Given the description of an element on the screen output the (x, y) to click on. 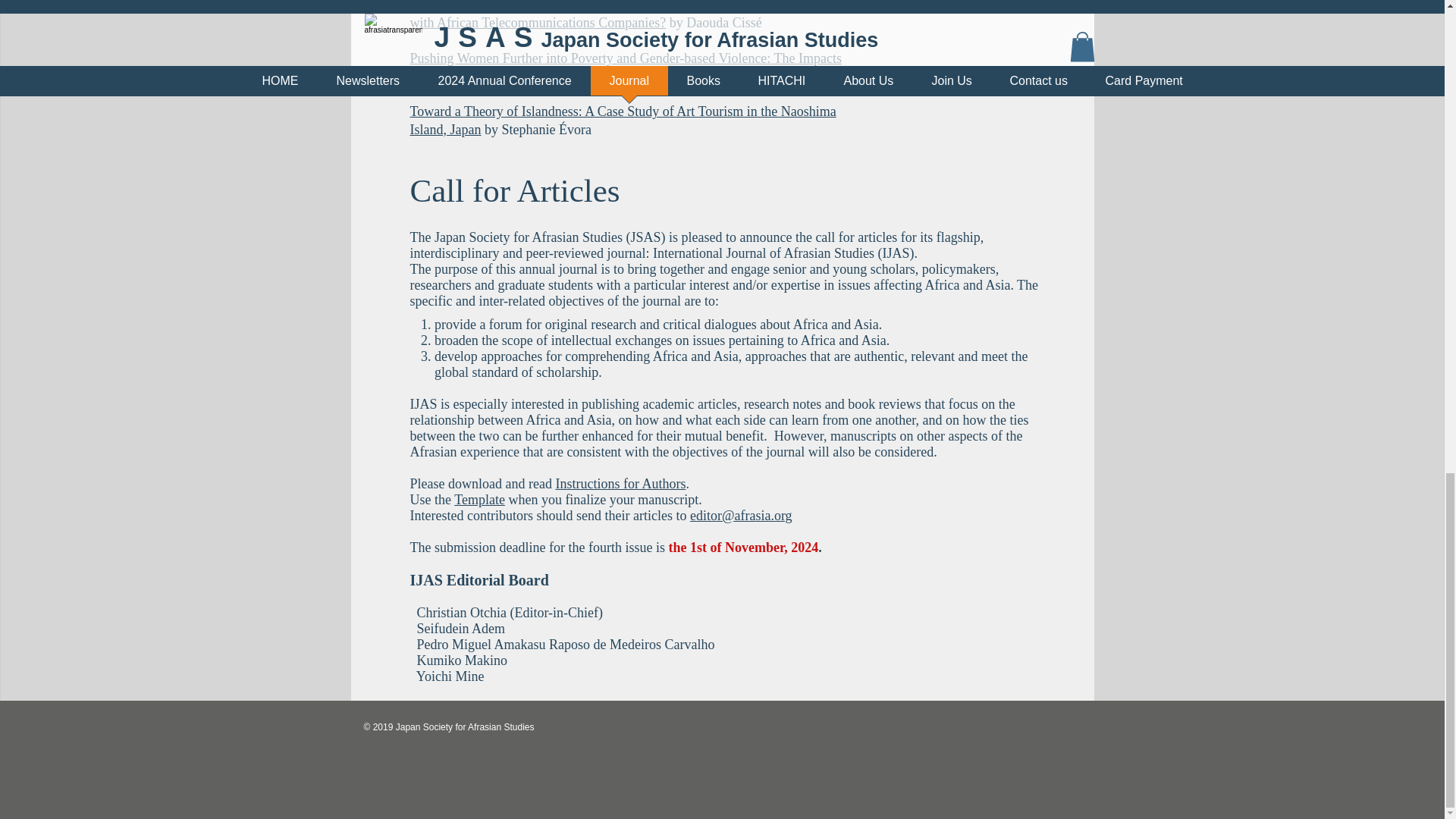
Instructions for Authors (619, 483)
Template (479, 499)
